Given the description of an element on the screen output the (x, y) to click on. 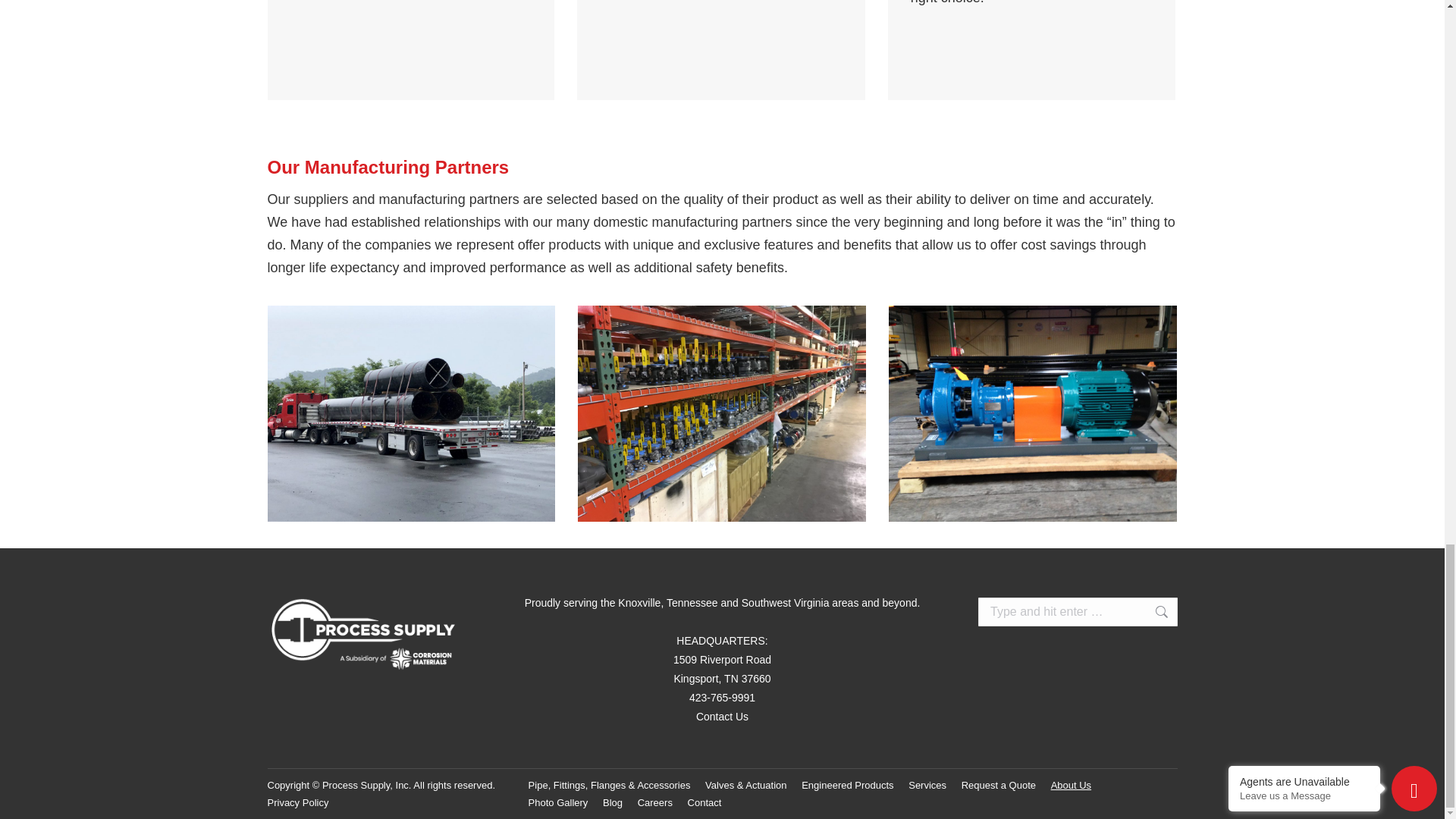
Go! (1153, 611)
Go! (1153, 611)
